Given the description of an element on the screen output the (x, y) to click on. 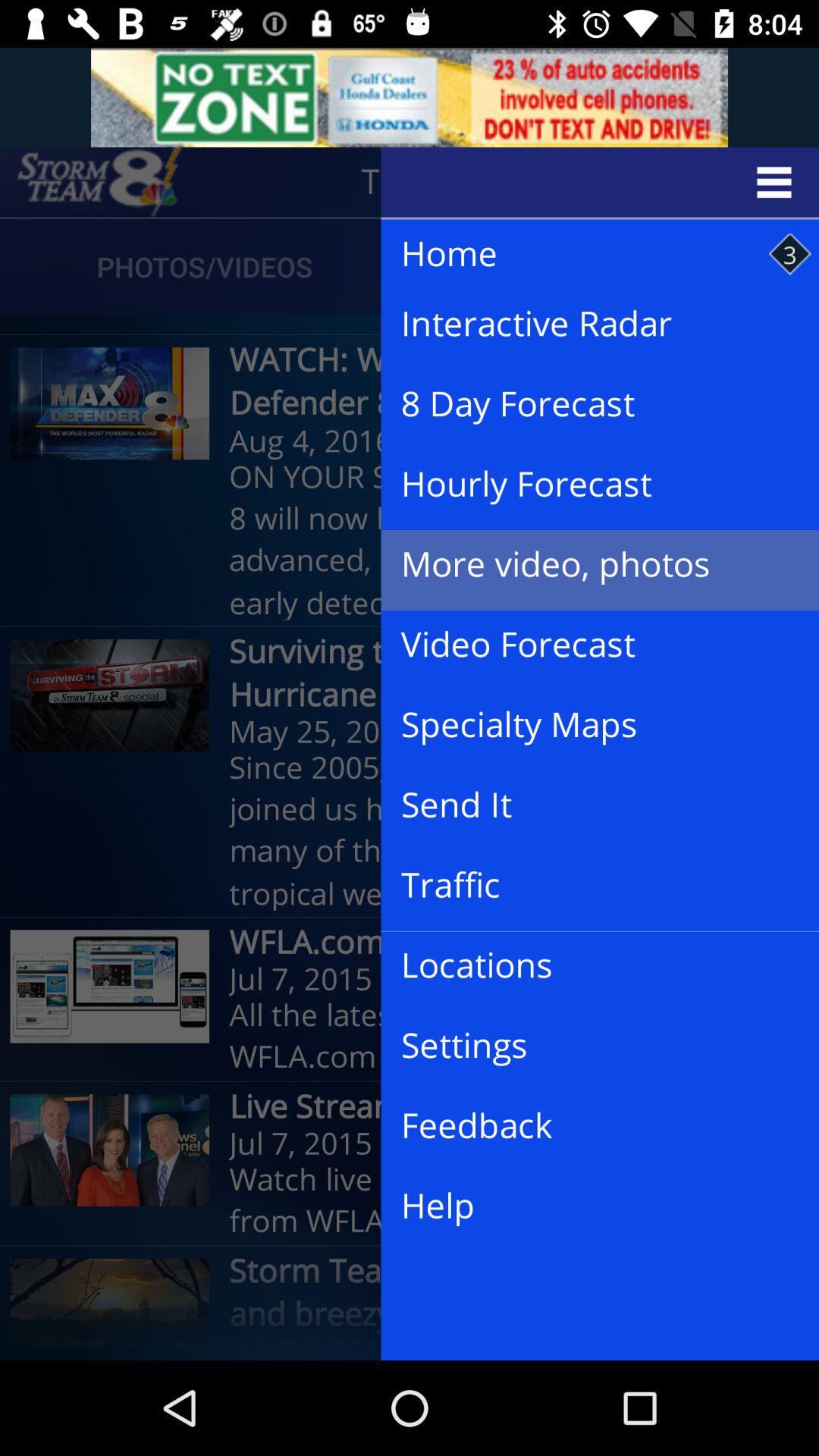
go to site homepage (99, 182)
